Given the description of an element on the screen output the (x, y) to click on. 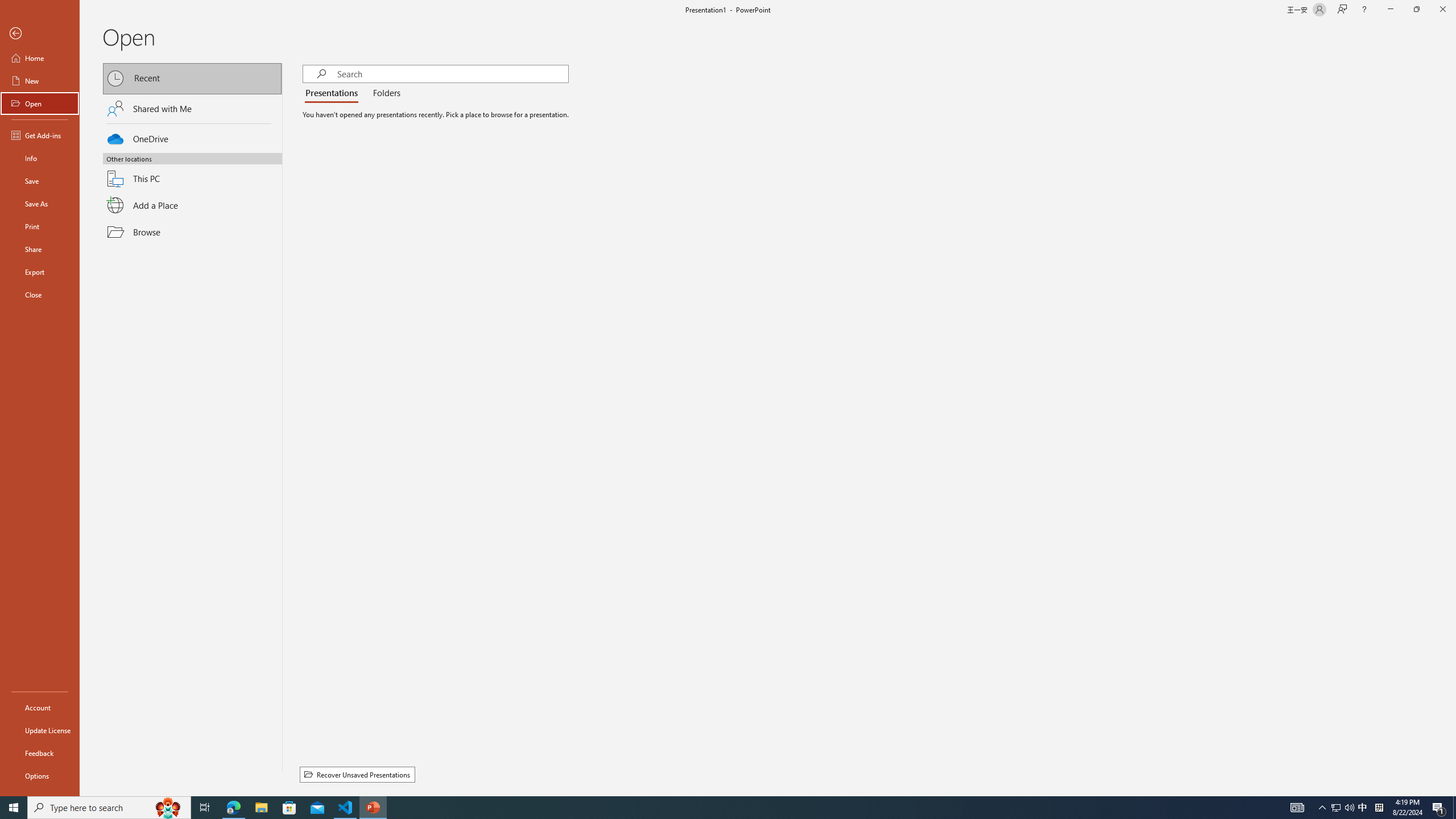
Save As (40, 203)
This PC (192, 171)
Print (40, 225)
Feedback (40, 753)
Account (40, 707)
Export (40, 271)
Recent (192, 78)
Recover Unsaved Presentations (356, 774)
Add a Place (192, 204)
Info (40, 157)
Folders (384, 93)
Update License (40, 730)
